Given the description of an element on the screen output the (x, y) to click on. 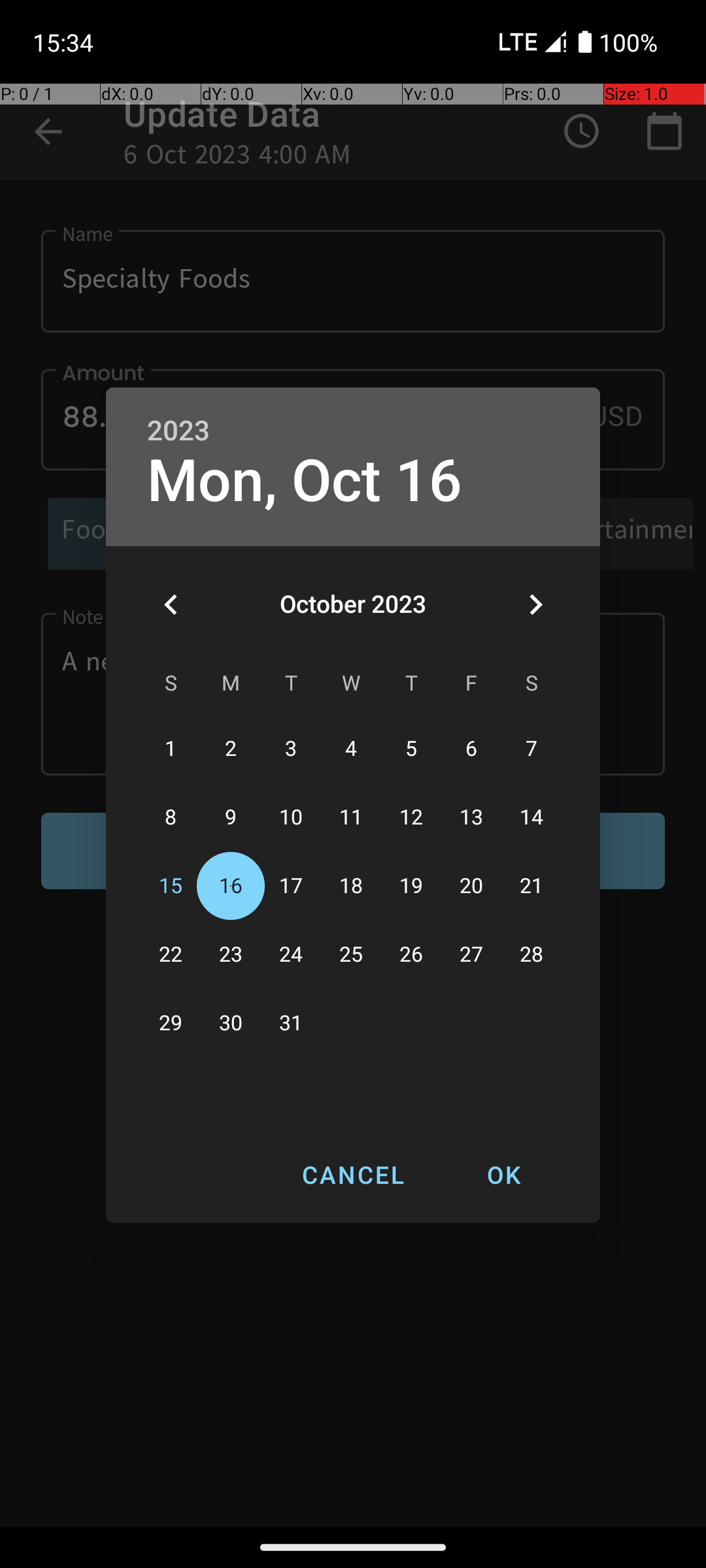
Mon, Oct 16 Element type: android.widget.TextView (304, 480)
